Given the description of an element on the screen output the (x, y) to click on. 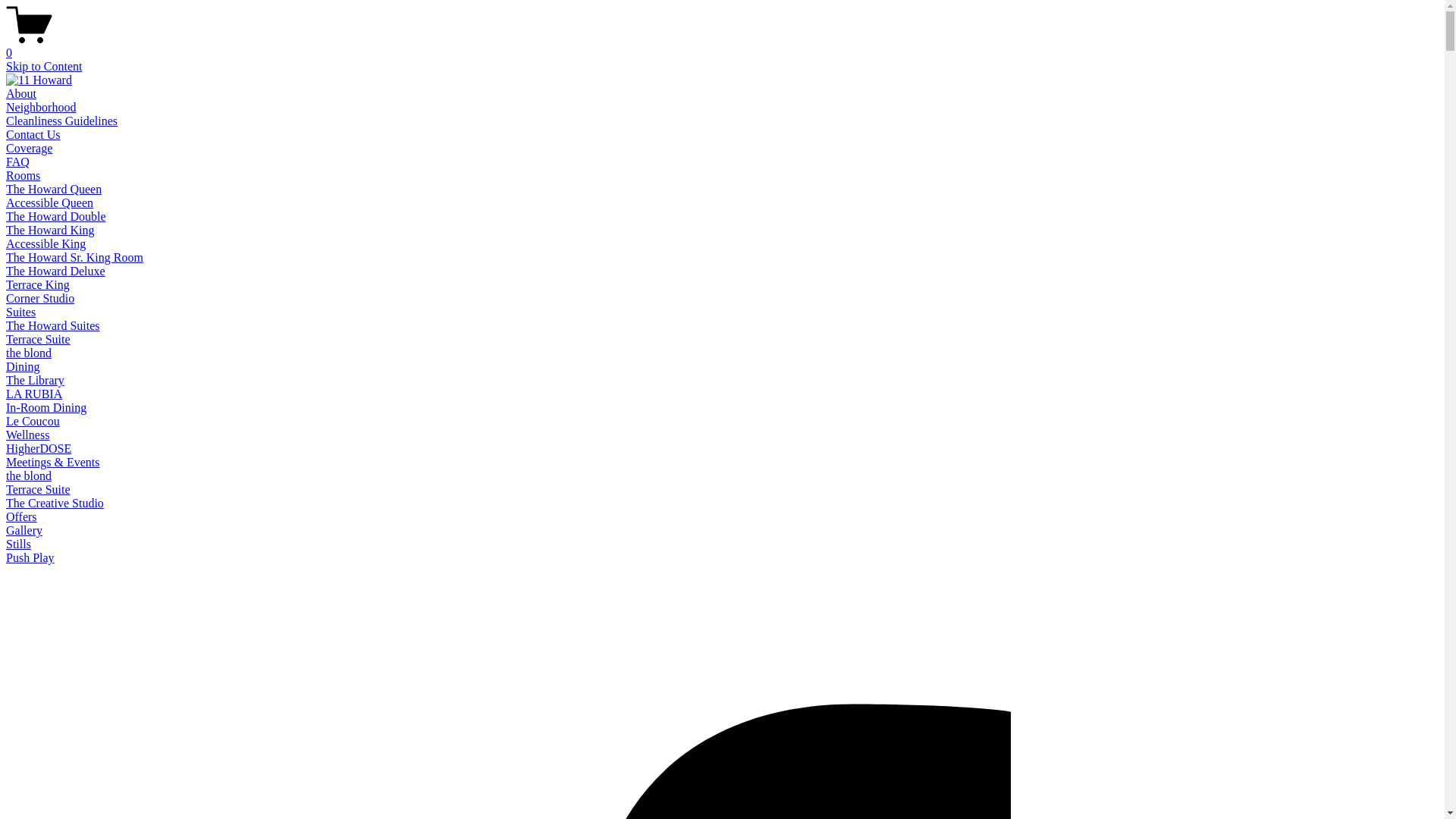
Push Play Element type: text (30, 557)
the blond Element type: text (28, 475)
Offers Element type: text (21, 516)
Cleanliness Guidelines Element type: text (61, 120)
Neighborhood Element type: text (40, 106)
Terrace King Element type: text (37, 284)
FAQ Element type: text (17, 161)
Dining Element type: text (22, 366)
Accessible Queen Element type: text (49, 202)
The Howard Sr. King Room Element type: text (74, 257)
The Creative Studio Element type: text (54, 502)
Gallery Element type: text (24, 530)
Wellness Element type: text (27, 434)
The Howard Queen Element type: text (53, 188)
Terrace Suite Element type: text (38, 489)
In-Room Dining Element type: text (46, 407)
The Library Element type: text (35, 379)
Le Coucou Element type: text (32, 420)
Suites Element type: text (20, 311)
Rooms Element type: text (23, 175)
The Howard Suites Element type: text (53, 325)
Corner Studio Element type: text (40, 297)
Meetings & Events Element type: text (53, 461)
HigherDOSE Element type: text (38, 448)
the blond Element type: text (28, 352)
Terrace Suite Element type: text (38, 338)
About Element type: text (21, 93)
The Howard King Element type: text (50, 229)
Coverage Element type: text (29, 147)
Contact Us Element type: text (33, 134)
0 Element type: text (722, 45)
LA RUBIA Element type: text (34, 393)
The Howard Double Element type: text (56, 216)
Stills Element type: text (18, 543)
Skip to Content Element type: text (43, 65)
Accessible King Element type: text (45, 243)
The Howard Deluxe Element type: text (55, 270)
